Given the description of an element on the screen output the (x, y) to click on. 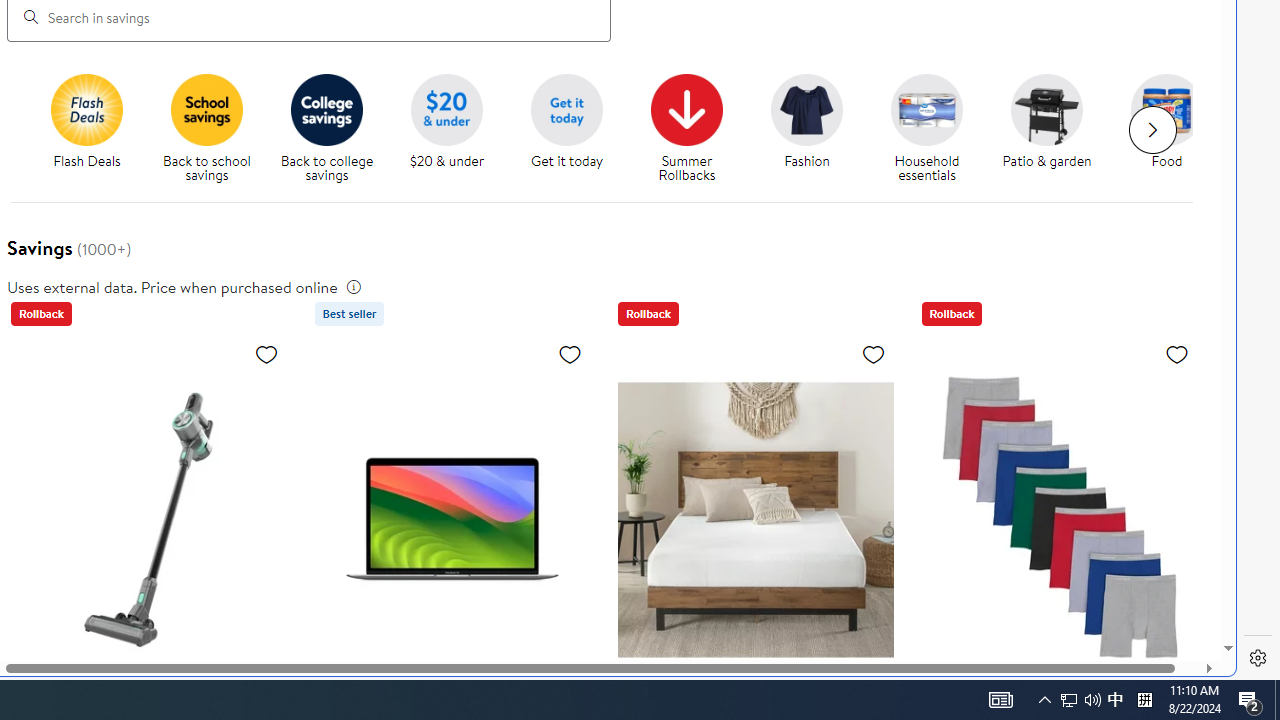
Patio & garden Patio & garden (1046, 122)
Summer Rollbacks (694, 128)
$20 and under (446, 109)
Back to college savings (335, 128)
Get it today Get it today (566, 122)
legal information (353, 286)
Back to School savings Back to school savings (206, 128)
